Given the description of an element on the screen output the (x, y) to click on. 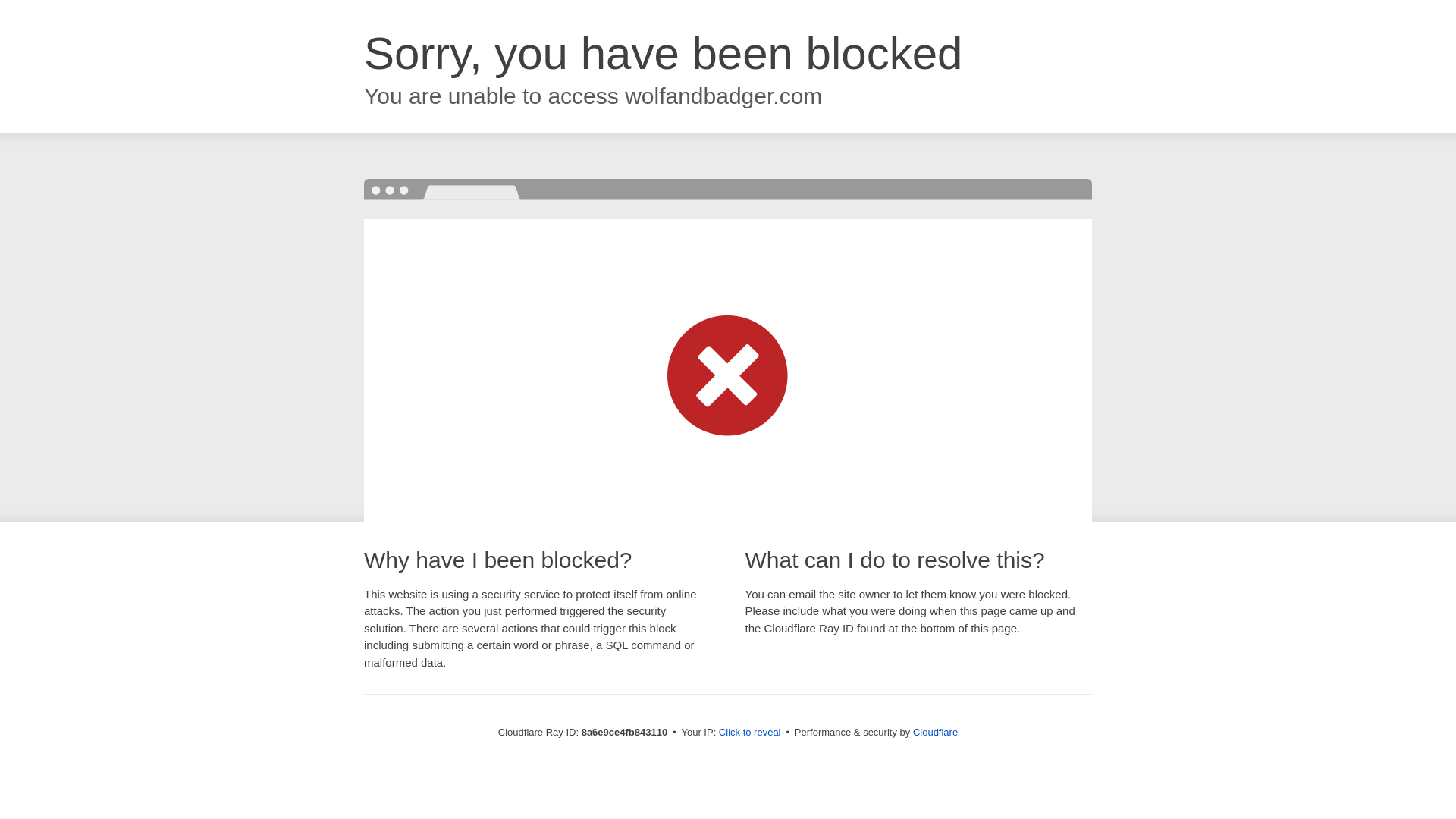
Cloudflare (935, 731)
Click to reveal (749, 732)
